Given the description of an element on the screen output the (x, y) to click on. 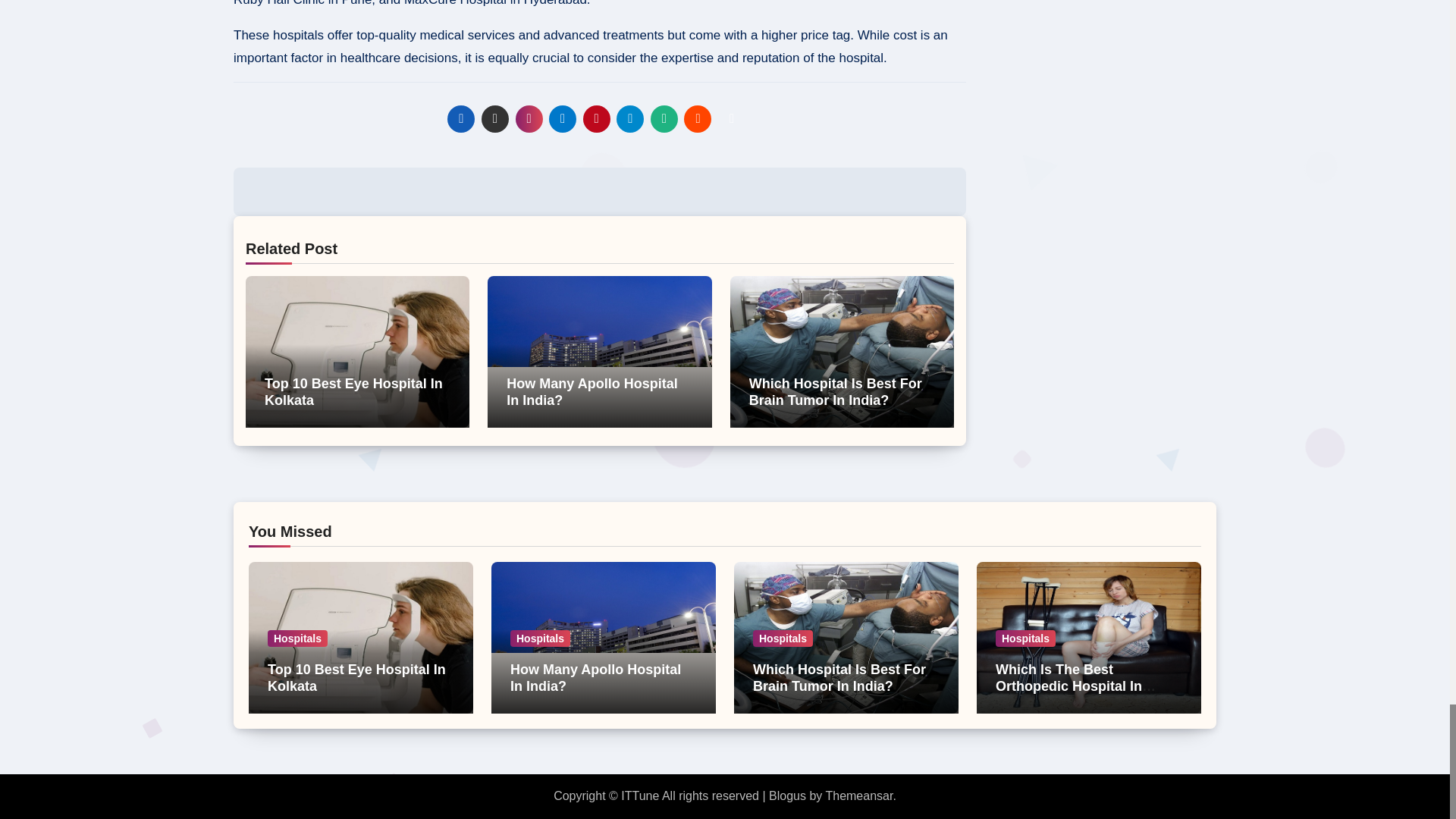
Which Hospital Is Best For Brain Tumor In India? (835, 391)
How Many Apollo Hospital In India? (591, 391)
Top 10 Best Eye Hospital In Kolkata (353, 391)
Permalink to: How Many Apollo Hospital In India? (591, 391)
Permalink to: Top 10 Best Eye Hospital In Kolkata (353, 391)
